Given the description of an element on the screen output the (x, y) to click on. 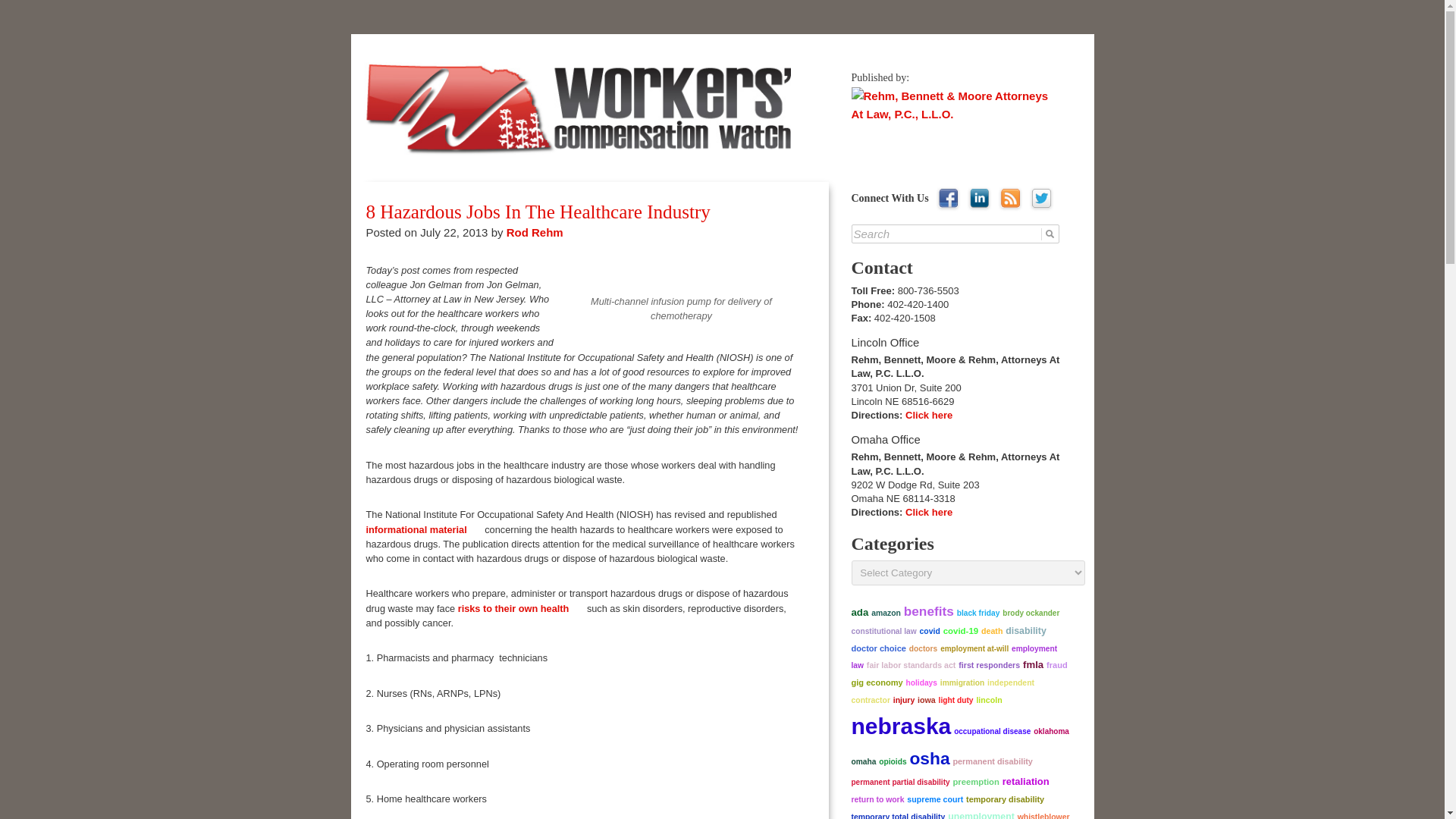
Workers' Compensation Watch (523, 62)
risks to their own health (521, 607)
informational material (423, 529)
Workers' Compensation Watch (523, 62)
View all posts by Rod Rehm (534, 232)
Search (955, 233)
Rod Rehm (534, 232)
